Given the description of an element on the screen output the (x, y) to click on. 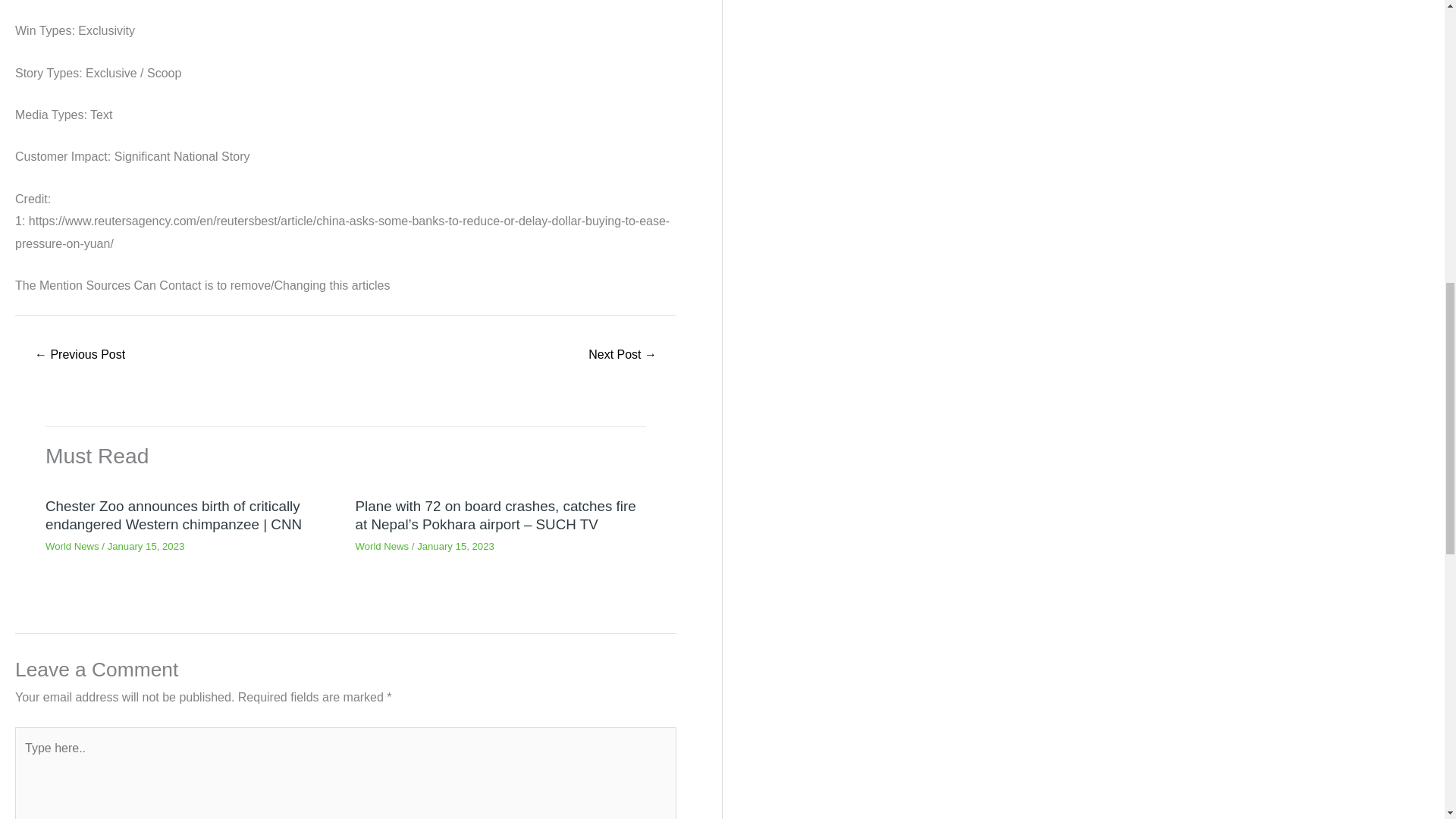
World News (382, 546)
World News (72, 546)
Was Sam Bankman-Fried behind another scam project? (622, 356)
